Given the description of an element on the screen output the (x, y) to click on. 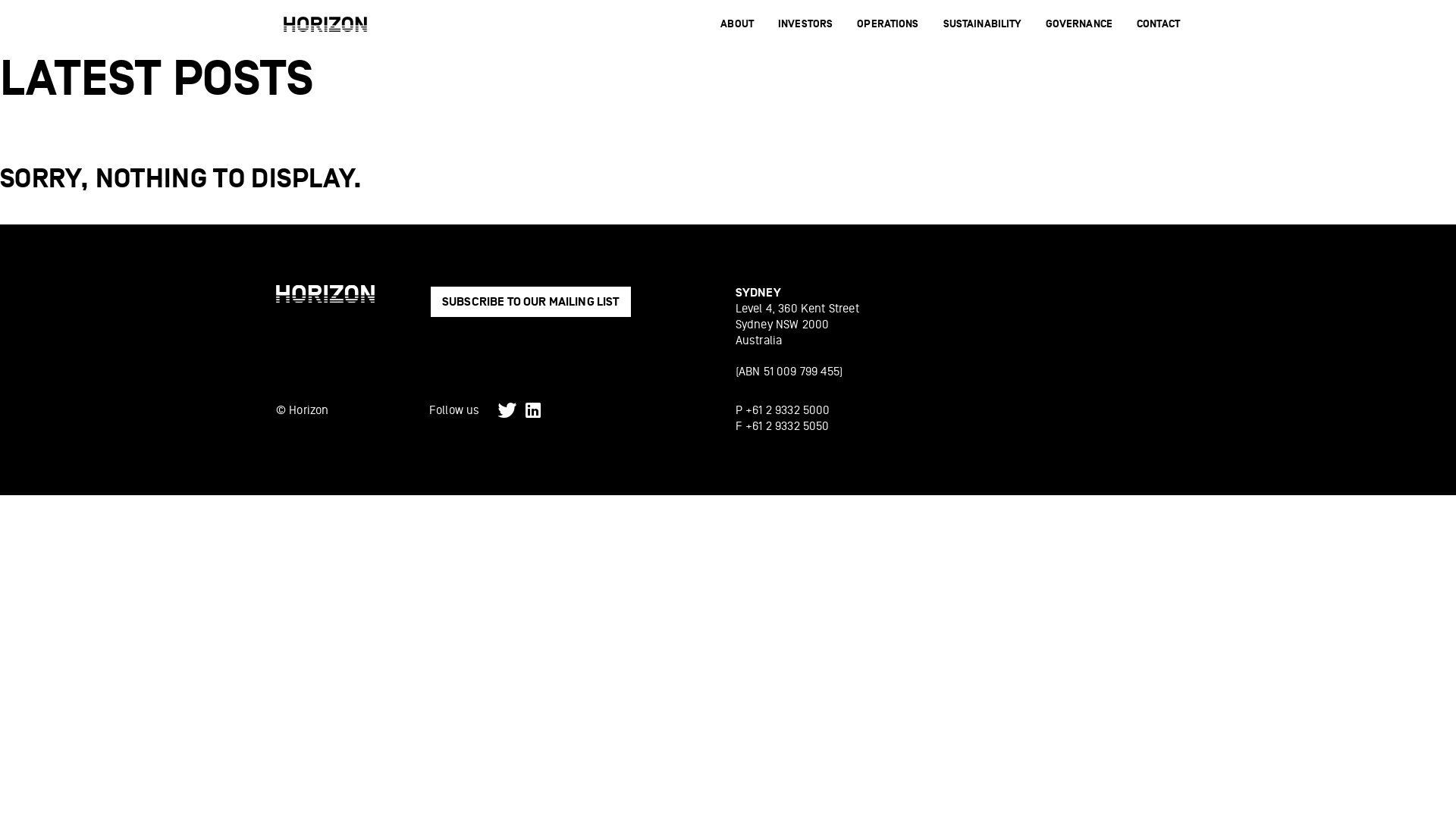
INVESTORS Element type: text (805, 23)
ABOUT Element type: text (736, 23)
SUSTAINABILITY Element type: text (982, 23)
GOVERNANCE Element type: text (1078, 23)
Twitter Element type: text (507, 409)
OPERATIONS Element type: text (887, 23)
LinkedIn Element type: text (533, 409)
Submit Element type: text (563, 632)
CONTACT Element type: text (1157, 23)
